Given the description of an element on the screen output the (x, y) to click on. 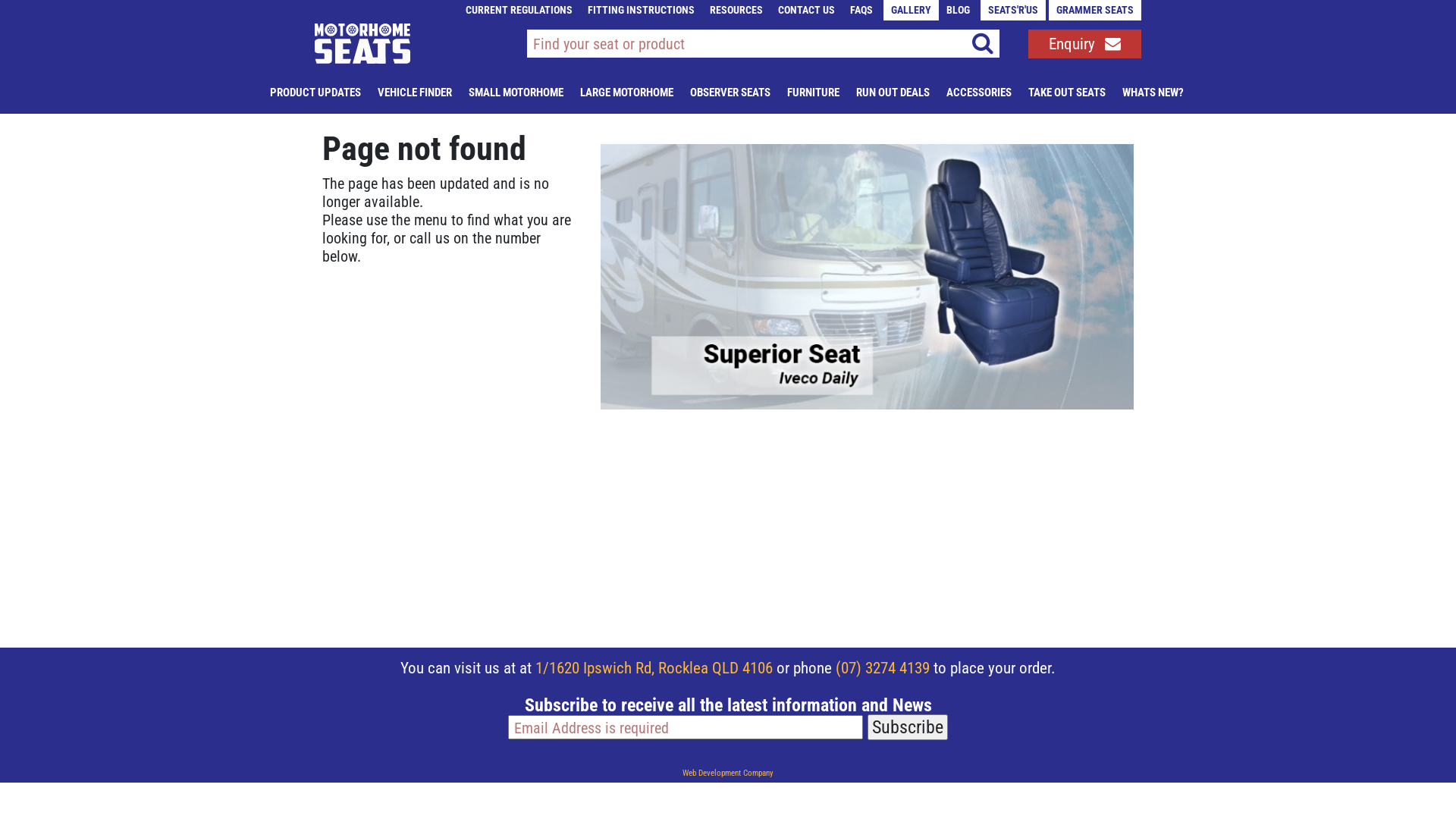
(07) 3274 4139 Element type: text (882, 667)
RESOURCES Element type: text (736, 10)
FURNITURE Element type: text (813, 91)
GRAMMER SEATS Element type: text (1094, 10)
ACCESSORIES Element type: text (978, 91)
FITTING INSTRUCTIONS Element type: text (641, 10)
TAKE OUT SEATS Element type: text (1066, 91)
Subscribe Element type: text (907, 727)
1/1620 Ipswich Rd, Rocklea QLD 4106 Element type: text (653, 667)
GALLERY Element type: text (910, 10)
LARGE MOTORHOME Element type: text (625, 91)
VEHICLE FINDER Element type: text (414, 91)
BLOG Element type: text (957, 10)
FAQS Element type: text (861, 10)
Enquiry Element type: text (1084, 43)
product title Element type: hover (733, 42)
PRODUCT UPDATES Element type: text (314, 91)
Enquiry Element type: text (1081, 38)
WHATS NEW? Element type: text (1152, 91)
Logo Element type: hover (362, 40)
SMALL MOTORHOME Element type: text (515, 91)
SEATS'R'US Element type: text (1012, 10)
OBSERVER SEATS Element type: text (730, 91)
CONTACT US Element type: text (806, 10)
RUN OUT DEALS Element type: text (891, 91)
Web Development Company Element type: text (727, 773)
CURRENT REGULATIONS Element type: text (519, 10)
